Given the description of an element on the screen output the (x, y) to click on. 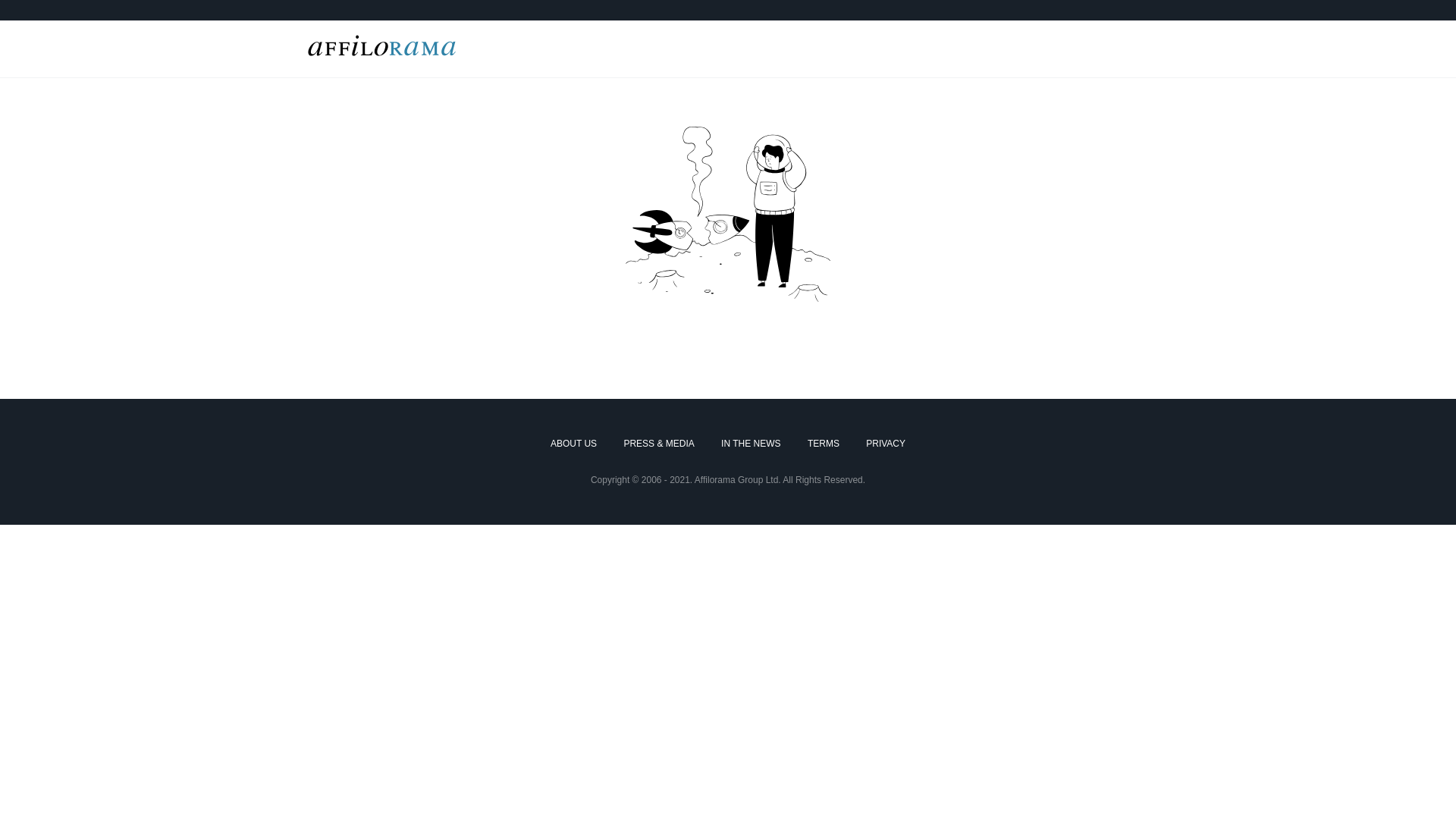
IN THE NEWS (750, 444)
ABOUT US (573, 444)
TERMS (824, 444)
PRIVACY (885, 444)
